Given the description of an element on the screen output the (x, y) to click on. 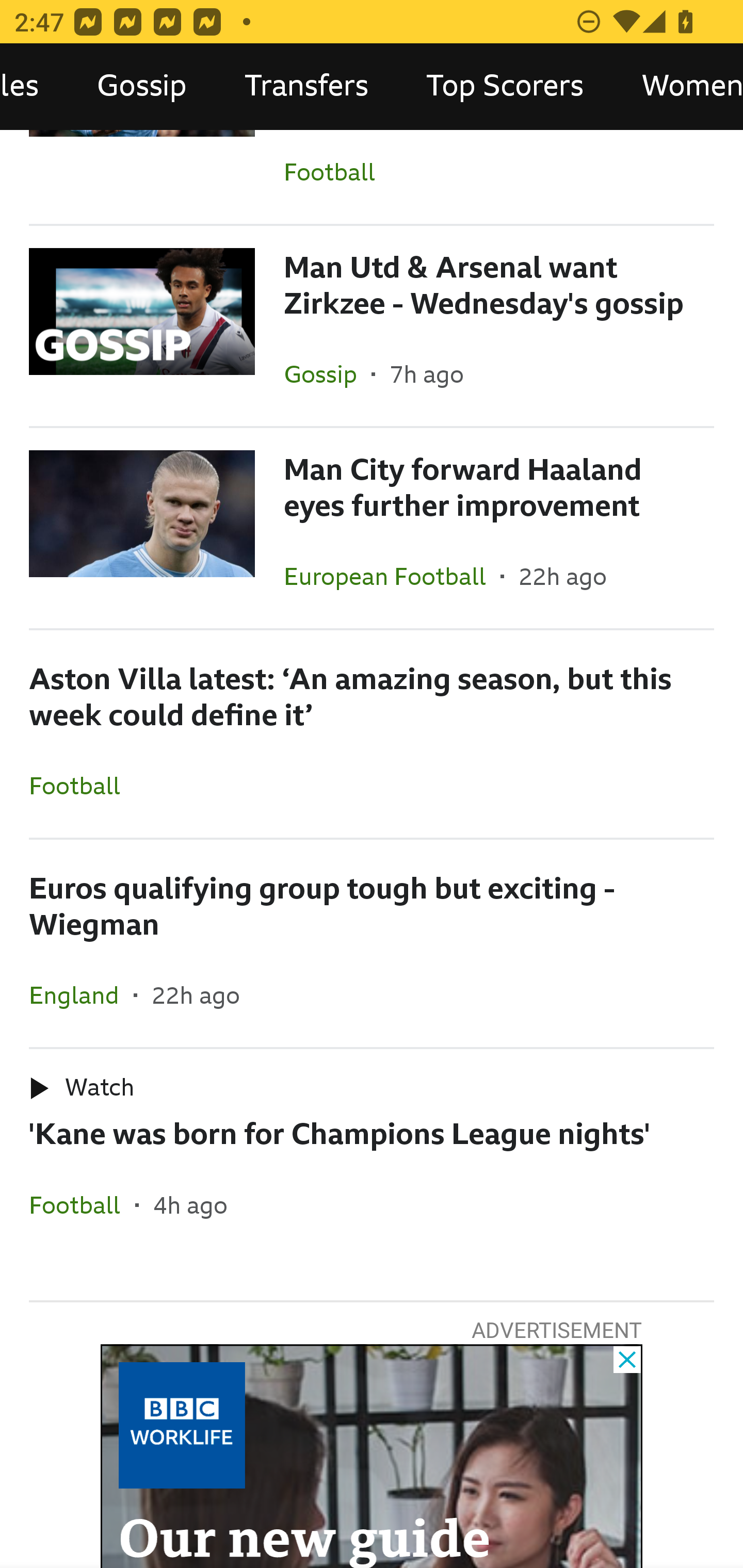
Gossip (141, 86)
Transfers (306, 86)
Top Scorers (504, 86)
Women (677, 86)
Football In the section Football (371, 177)
European Football In the section European Football (391, 575)
England In the section England (80, 994)
